Given the description of an element on the screen output the (x, y) to click on. 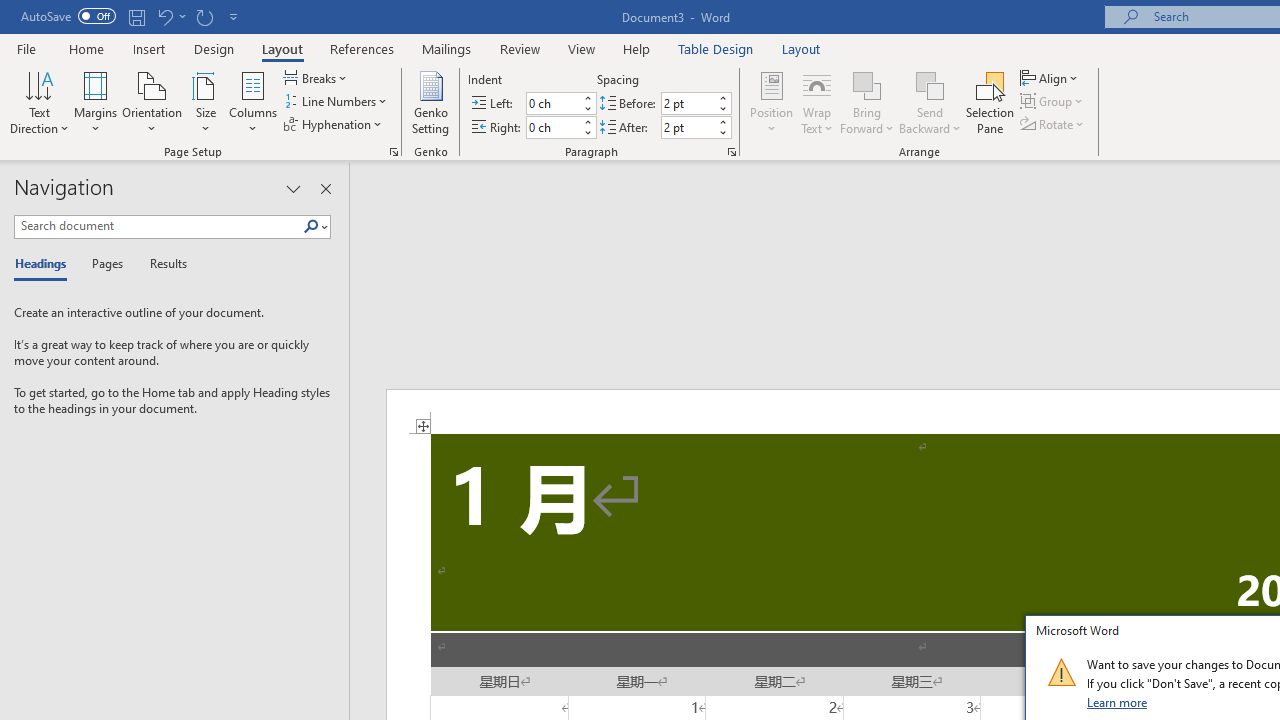
Indent Left (552, 103)
Genko Setting... (430, 102)
Selection Pane... (990, 102)
Orientation (152, 102)
Page Setup... (393, 151)
Text Direction (39, 102)
Spacing Before (687, 103)
